Given the description of an element on the screen output the (x, y) to click on. 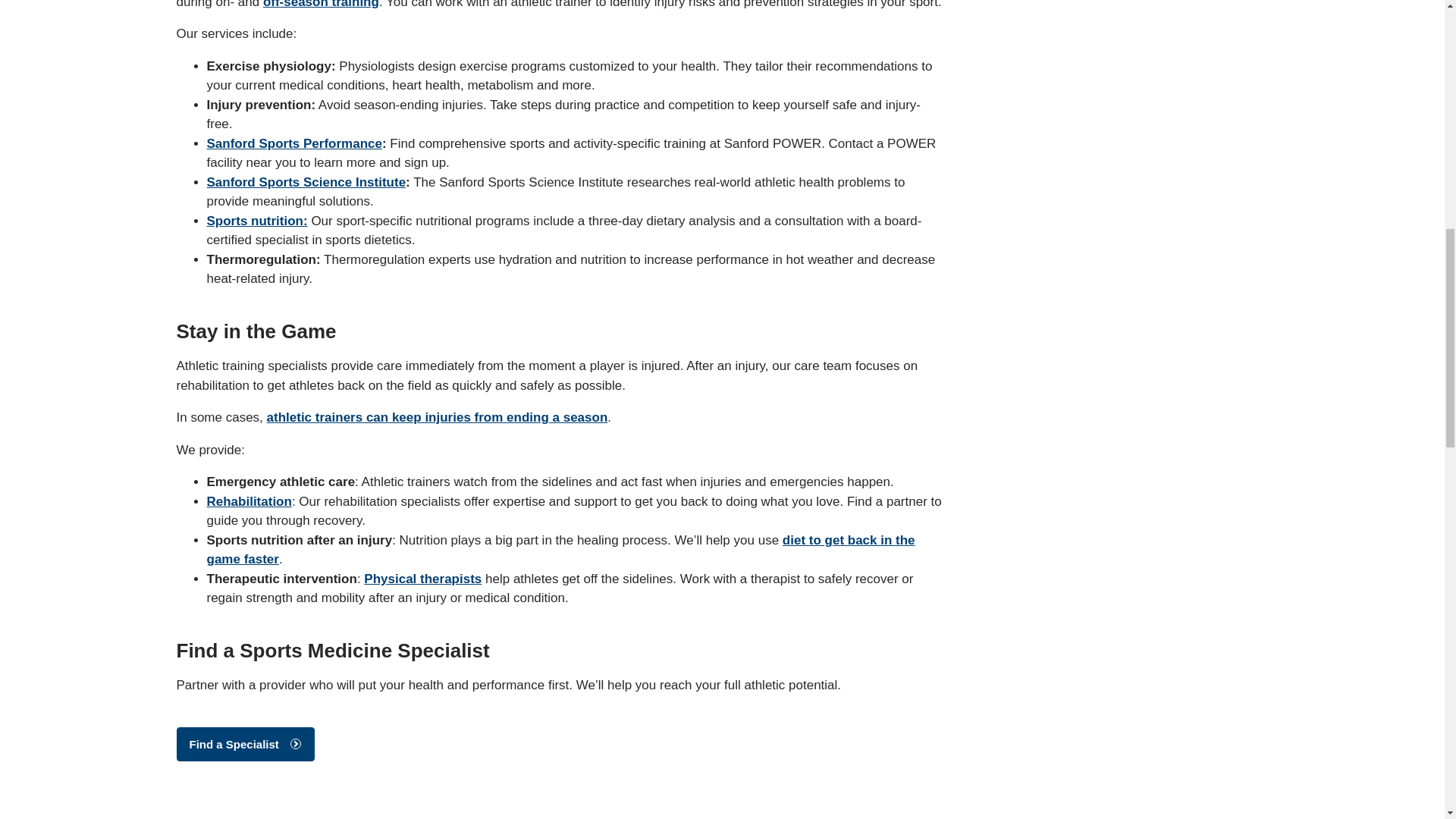
Sports nutrition: (256, 220)
Sanford Sports Performance (293, 143)
Sanford Sports Science Institute (306, 182)
off-season training (320, 4)
Rehabilitation (248, 501)
diet to get back in the game faster (560, 550)
athletic trainers can keep injuries from ending a season (437, 417)
